Given the description of an element on the screen output the (x, y) to click on. 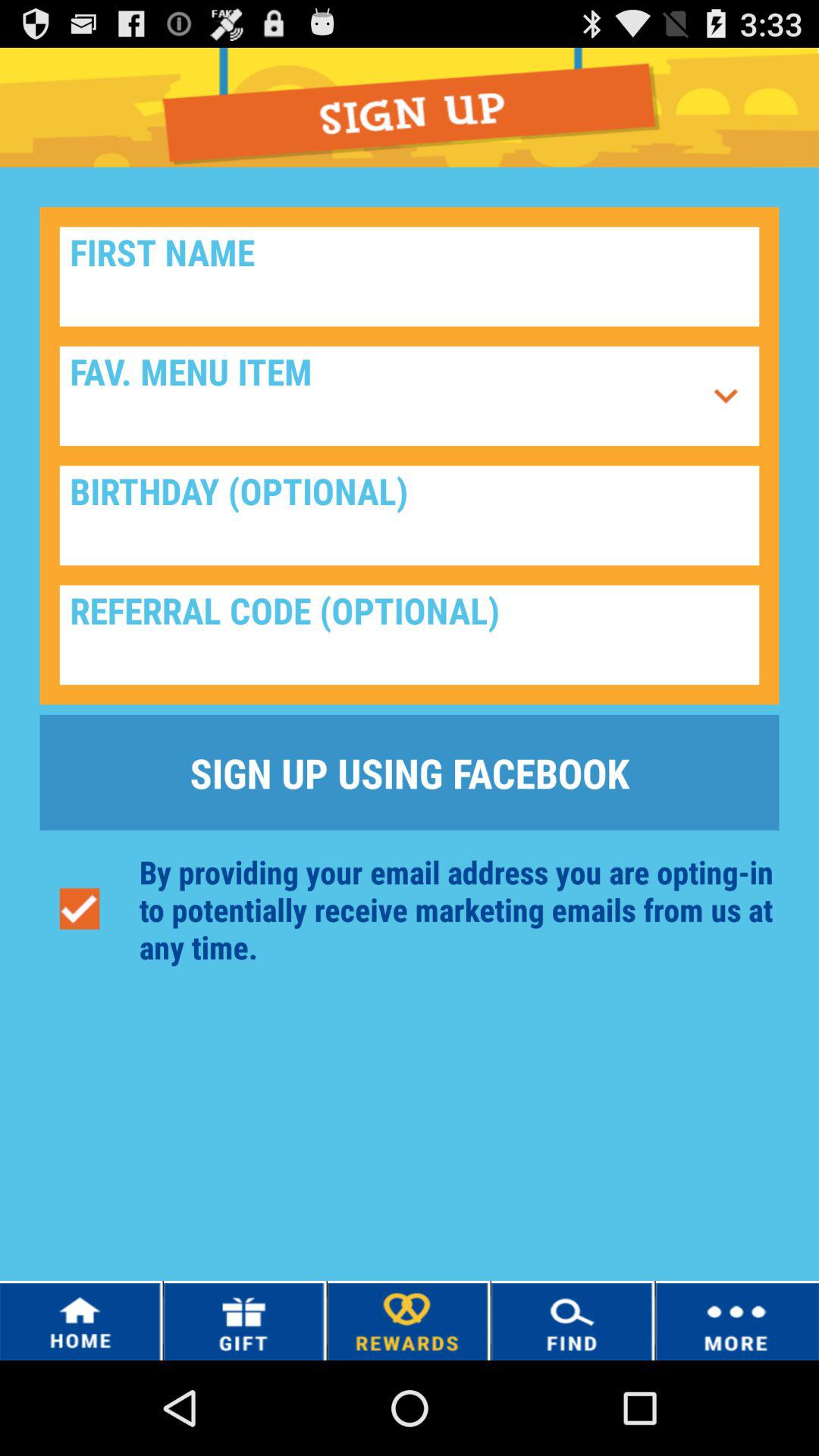
tap icon to the right of the fav. menu item item (725, 395)
